Given the description of an element on the screen output the (x, y) to click on. 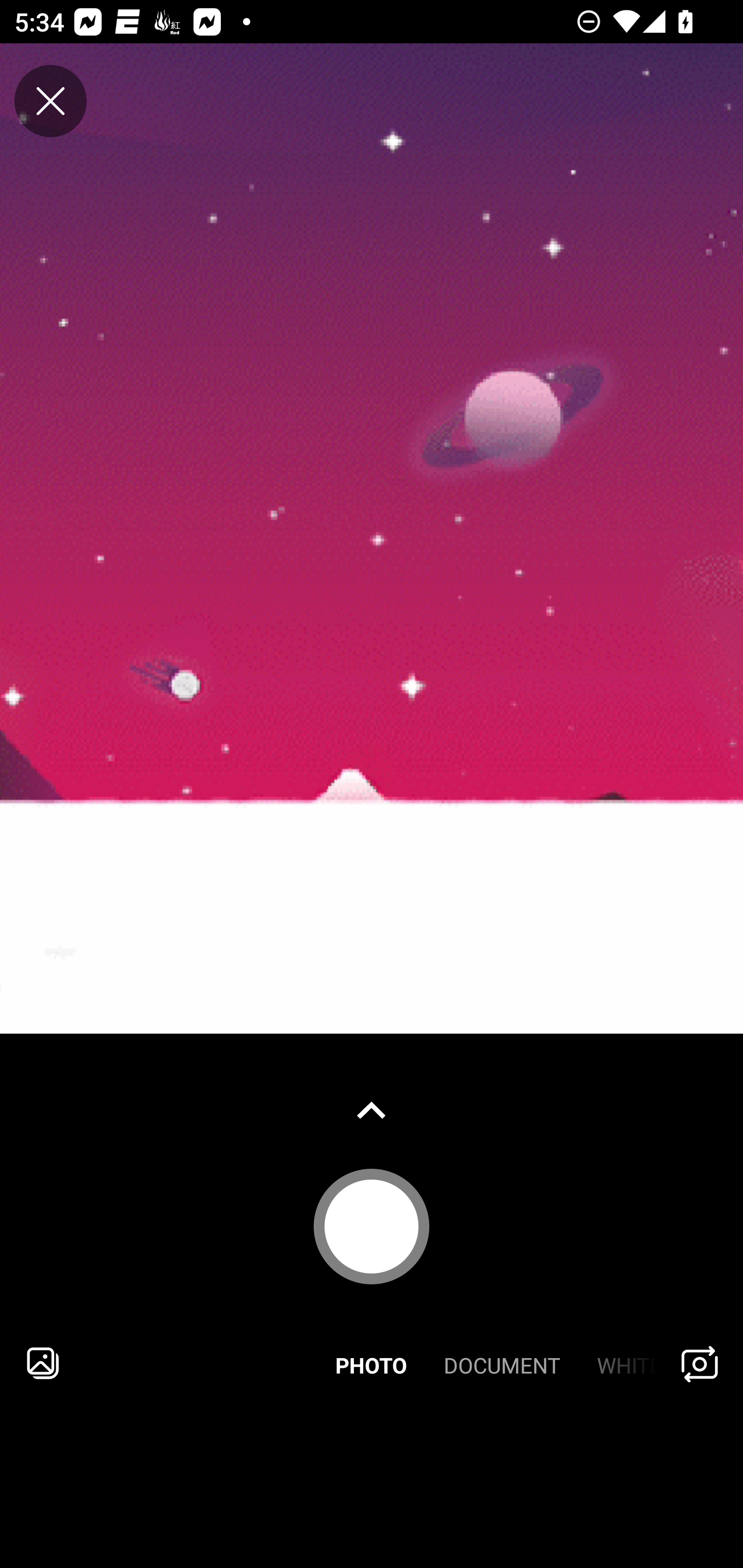
Close (50, 101)
Show gallery (371, 1110)
Capture (371, 1226)
Import (43, 1363)
Flip Camera (699, 1363)
PHOTO (371, 1362)
DOCUMENT (502, 1362)
